Given the description of an element on the screen output the (x, y) to click on. 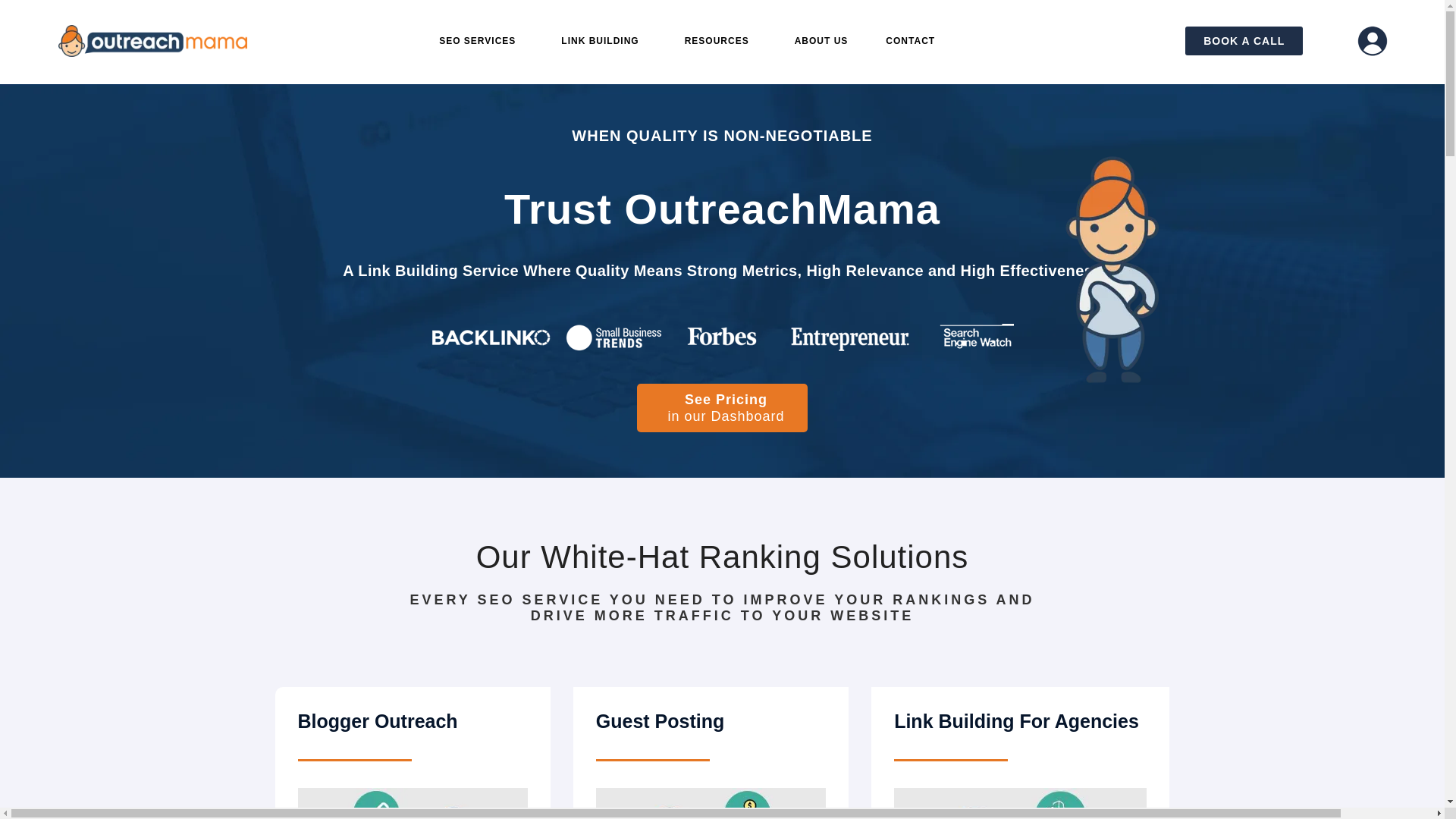
Link Building 1 (721, 337)
LINK BUILDING (603, 40)
Link Building 4 (710, 803)
Link Building 5 (1020, 803)
CONTACT (909, 40)
Link Building 3 (412, 803)
login (1371, 40)
ABOUT US (821, 40)
SEO SERVICES (480, 40)
RESOURCES (720, 40)
